Given the description of an element on the screen output the (x, y) to click on. 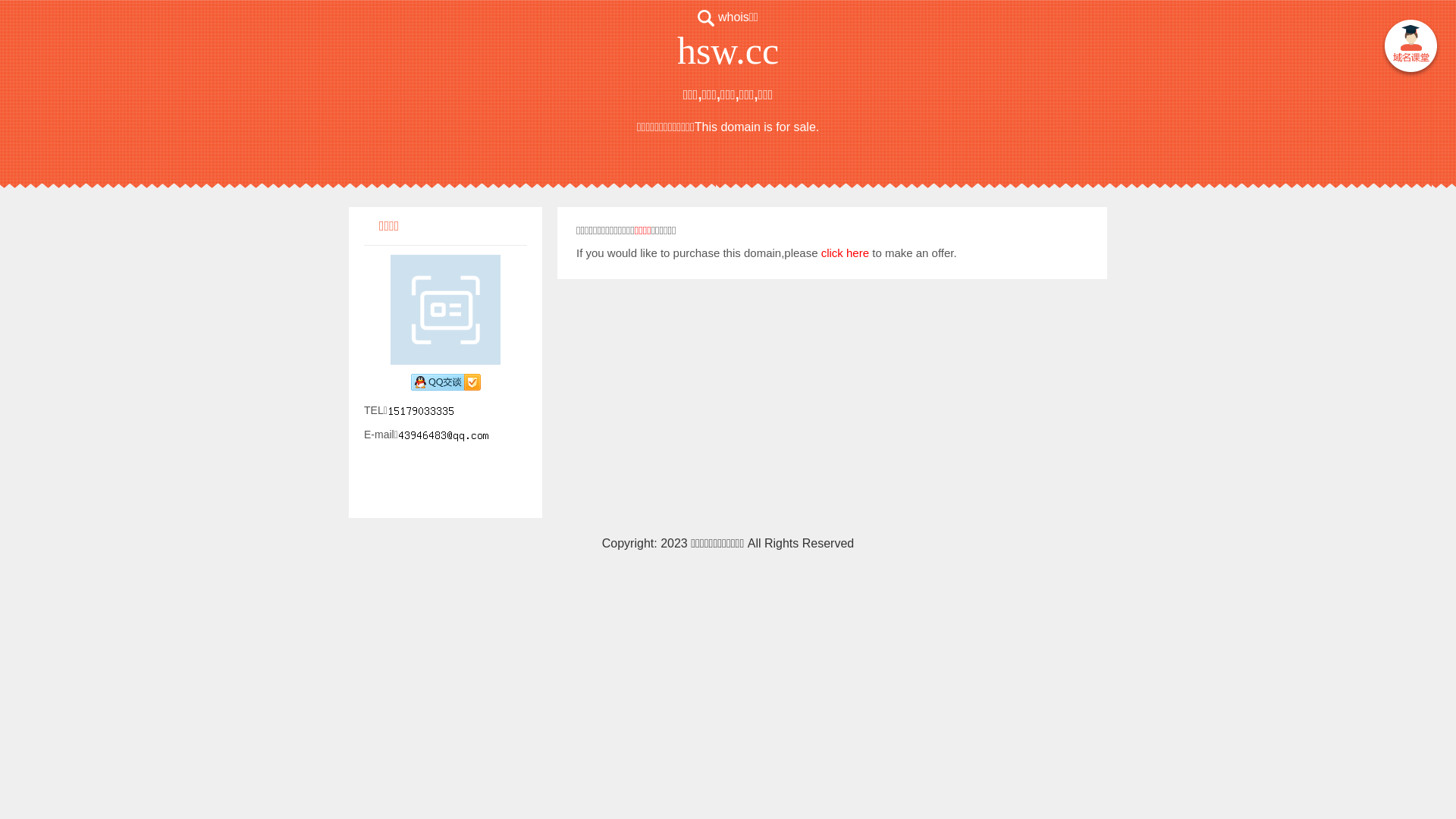
click here Element type: text (845, 252)
  Element type: text (1410, 48)
